Given the description of an element on the screen output the (x, y) to click on. 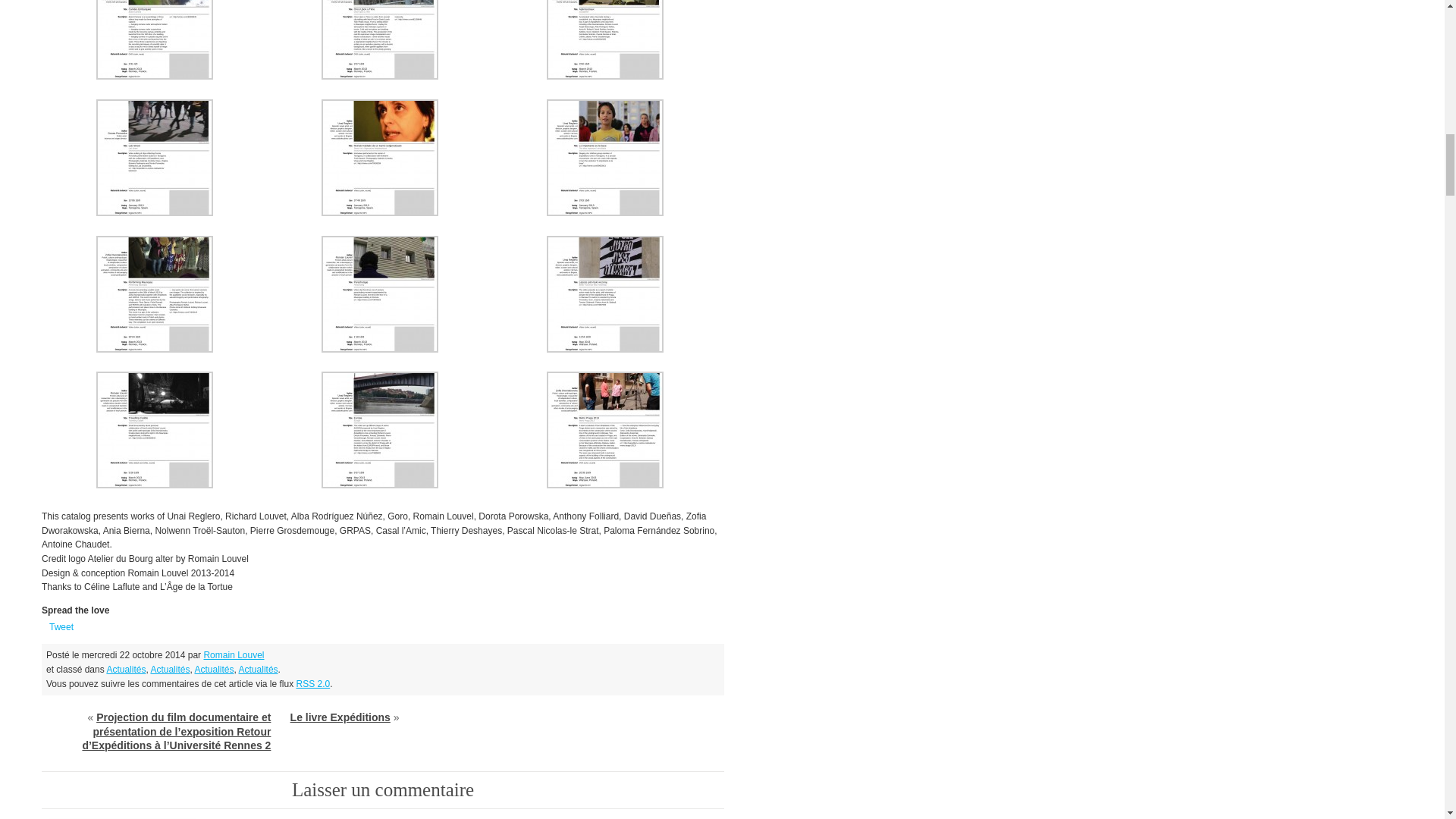
Romain Louvel (233, 655)
Articles par Romain Louvel (233, 655)
Tweet (61, 626)
